Given the description of an element on the screen output the (x, y) to click on. 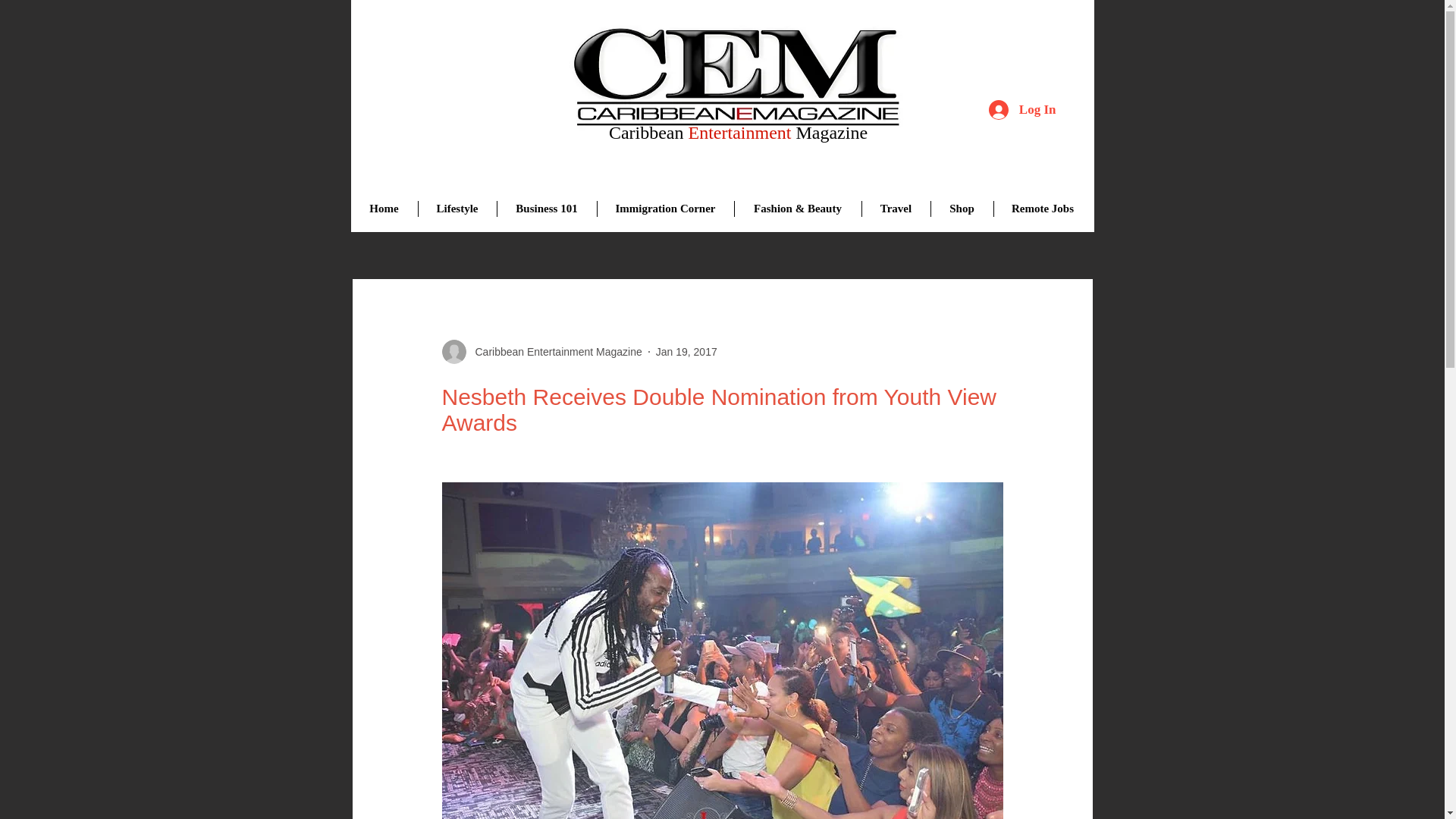
Business 101 (545, 208)
Home (383, 208)
Caribbean Entertainment Magazine (733, 80)
Caribbean Entertainment Magazine (553, 351)
Immigration Corner (664, 208)
Jan 19, 2017 (686, 351)
Travel (895, 208)
Caribbean Entertainment Magazine (541, 351)
Shop (961, 208)
Lifestyle (456, 208)
Log In (1022, 109)
Remote Jobs (1042, 208)
